Given the description of an element on the screen output the (x, y) to click on. 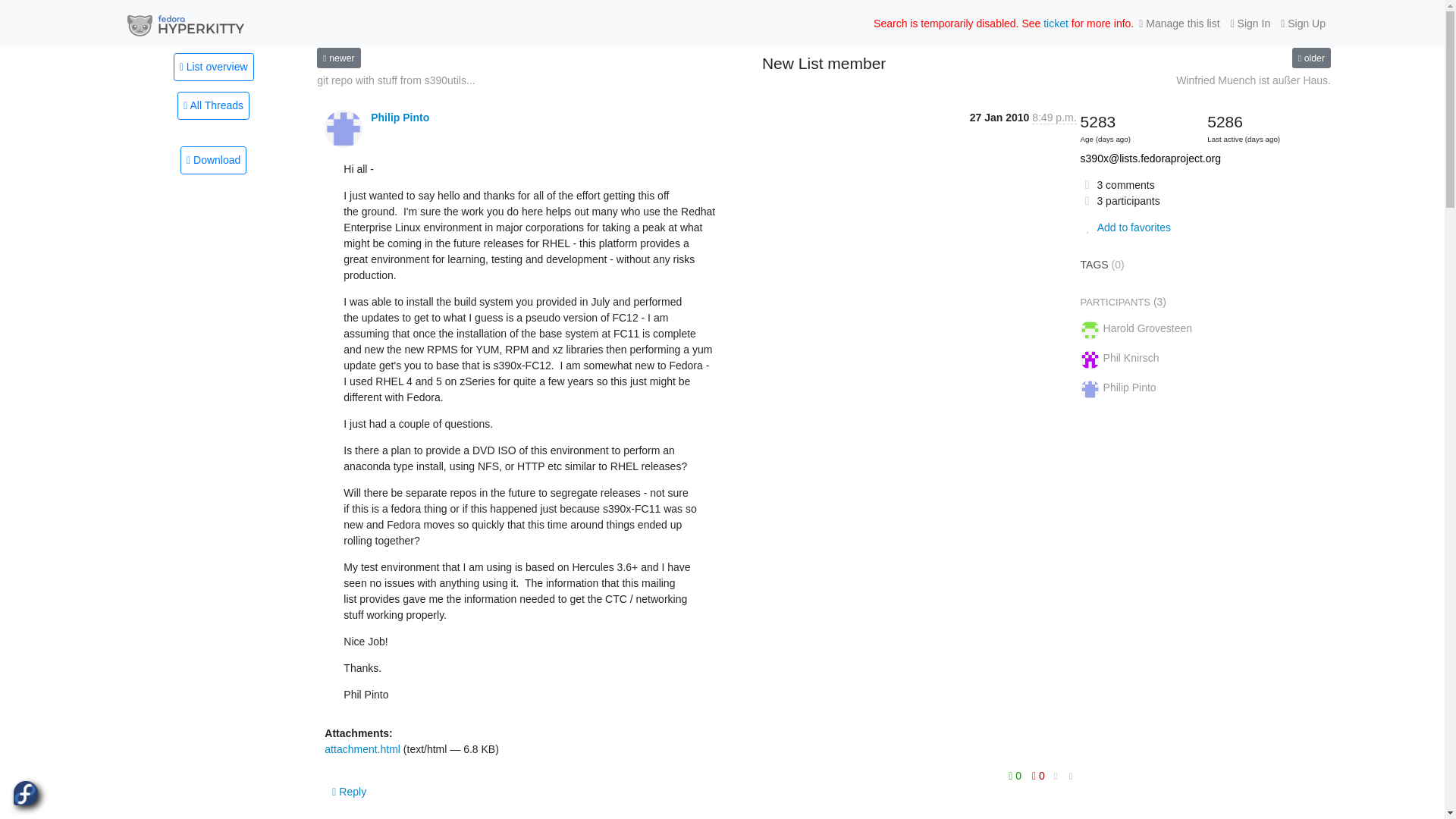
Download (213, 160)
ticket (1055, 23)
git repo with stuff from s390utils... (395, 80)
List overview (213, 67)
This thread in gzipped mbox format (213, 160)
You must be logged-in to vote. (1037, 775)
Manage this list (1179, 23)
Sign In (1250, 23)
newer (338, 57)
Sign in to reply online (349, 791)
You must be logged-in to vote. (1015, 775)
Sender's time: Jan. 27, 2010, 9:49 p.m. (1053, 117)
Sign Up (1302, 23)
git repo with stuff from s390utils package (395, 80)
git repo with stuff from s390utils package (338, 57)
